Given the description of an element on the screen output the (x, y) to click on. 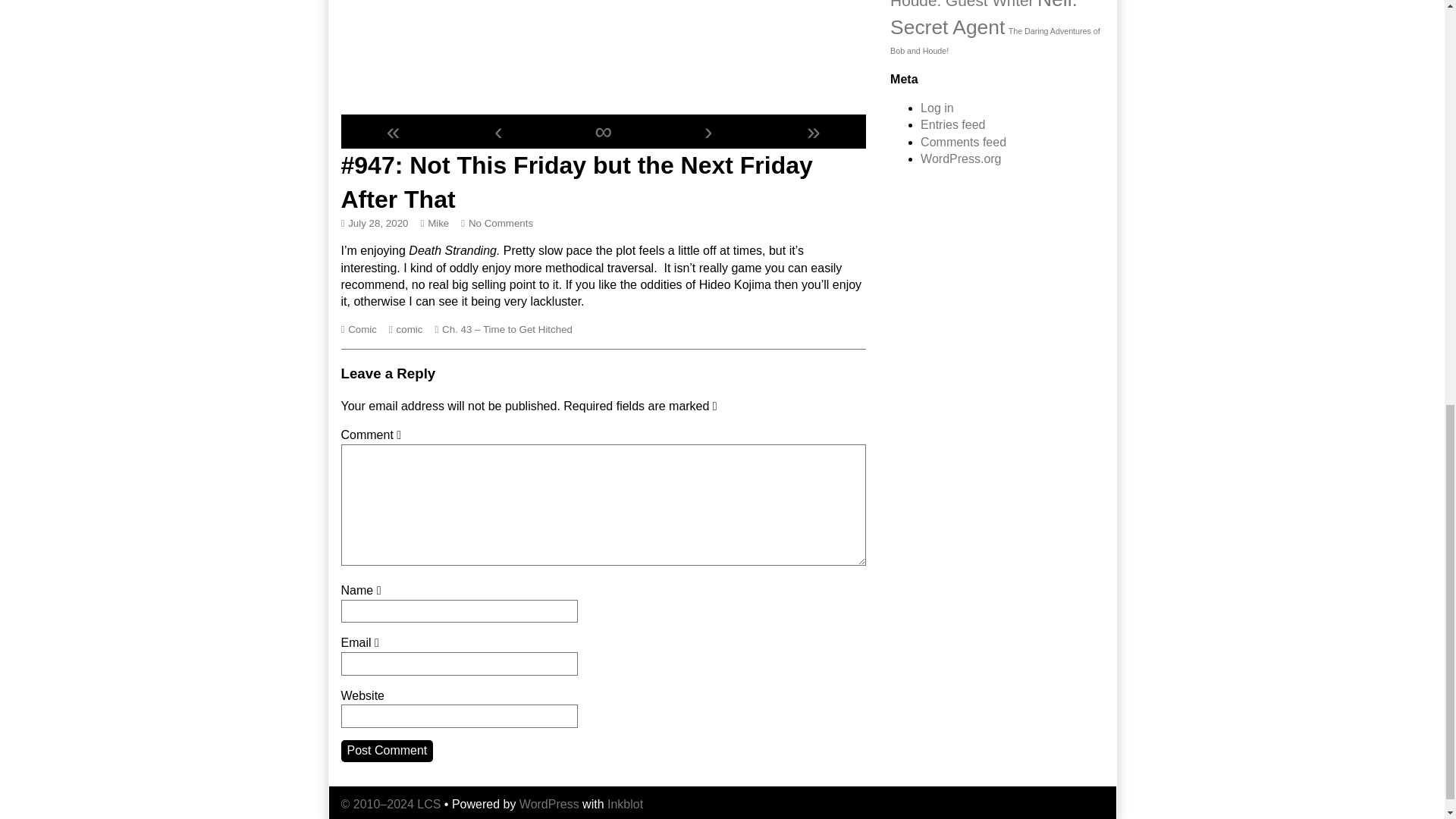
Inkblot (625, 803)
Houde: Guest Writer (961, 4)
WordPress (549, 803)
Comic (362, 328)
WordPress.org (960, 158)
Neil: Secret Agent (983, 19)
Log in (936, 107)
Comments feed (963, 141)
Post Comment (386, 751)
Entries feed (952, 124)
